Given the description of an element on the screen output the (x, y) to click on. 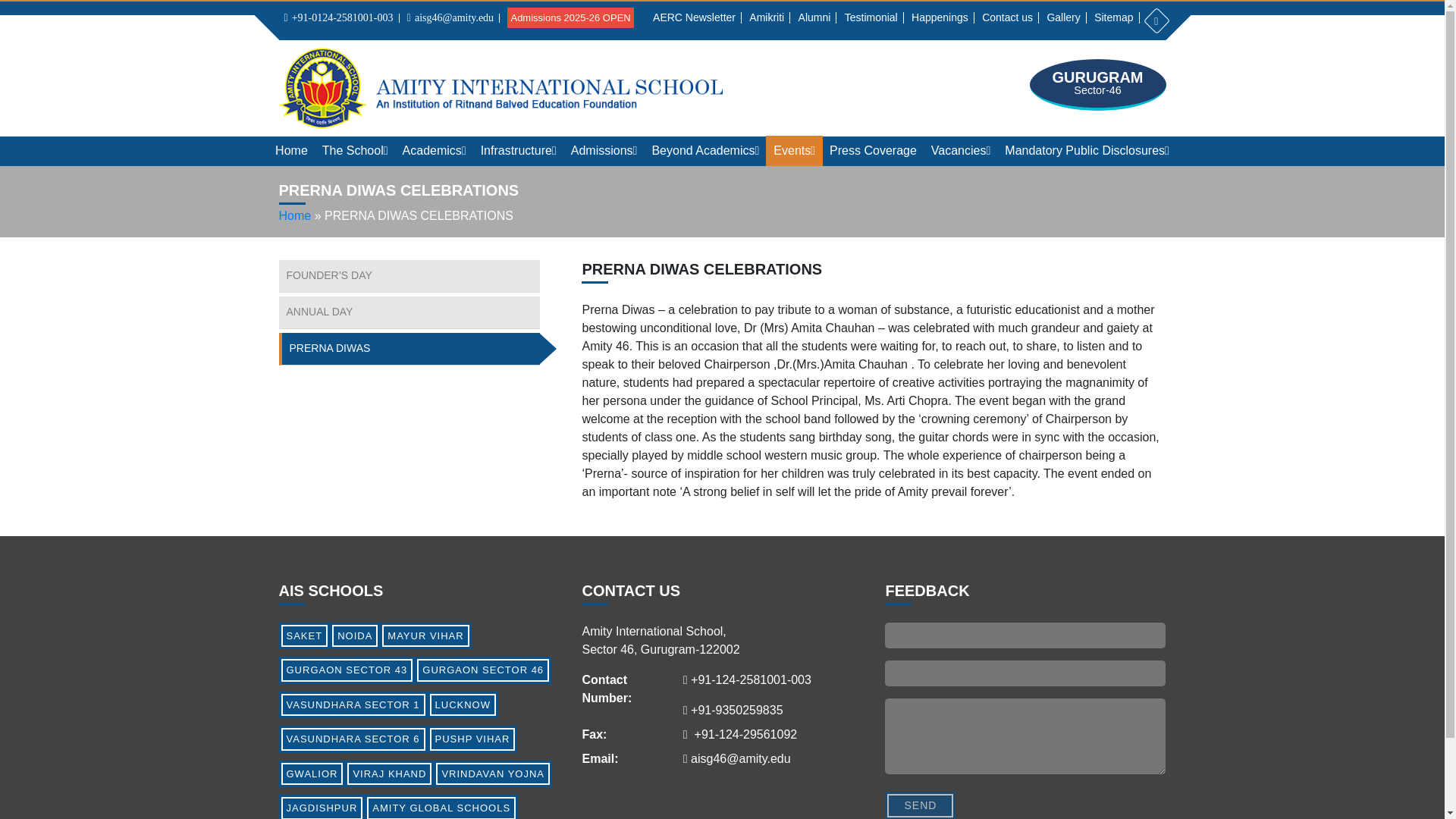
Happenings (939, 17)
The School (355, 150)
Testimonial (871, 17)
Home (291, 150)
Contact us (1007, 17)
Send (920, 805)
AERC Newsletter (694, 17)
Admissions 2025-26 OPEN (569, 17)
Gallery (1062, 17)
Alumni (814, 17)
